Given the description of an element on the screen output the (x, y) to click on. 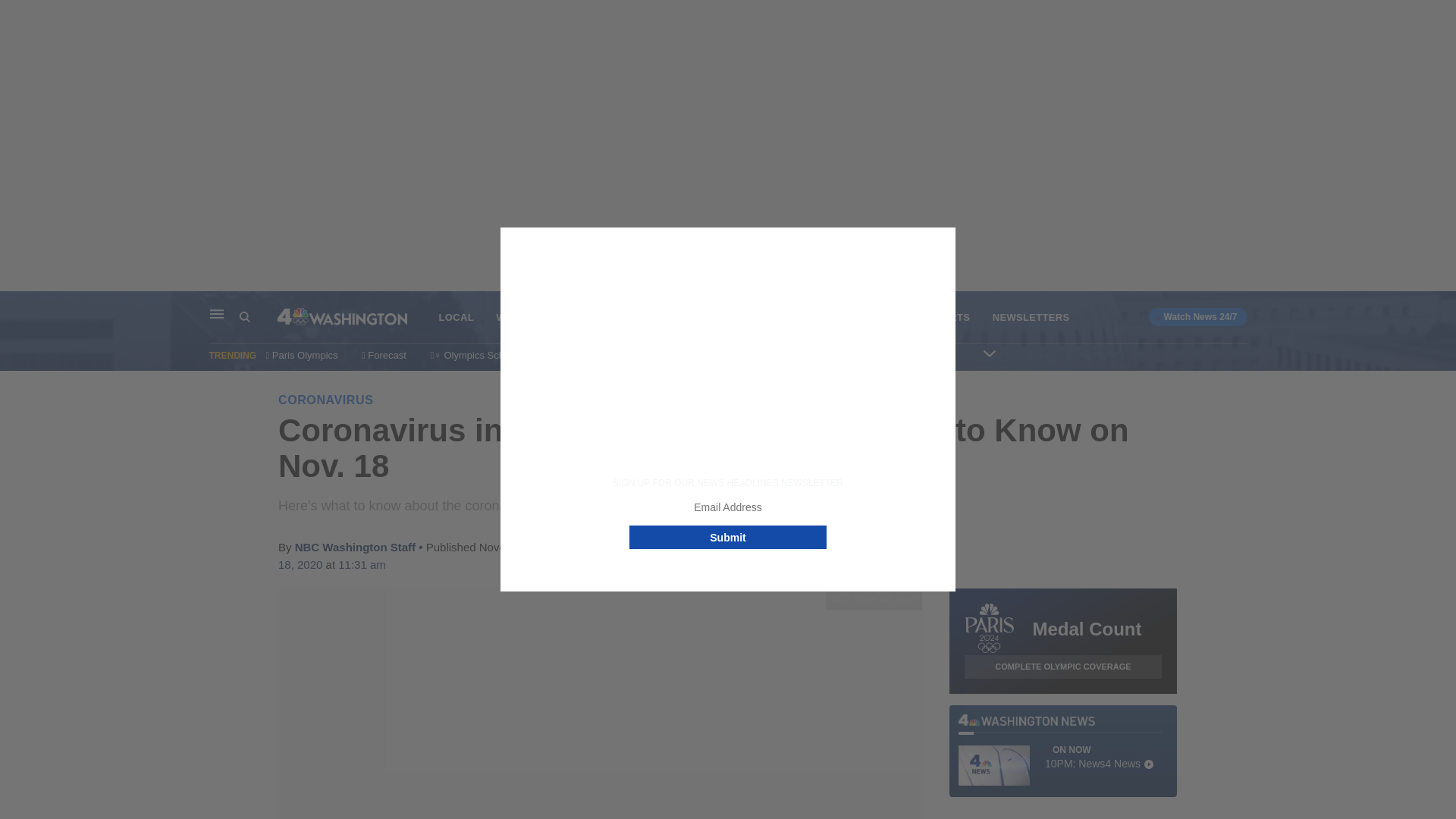
SPORTS (948, 317)
Main Navigation (216, 313)
INVESTIGATIONS (862, 317)
OLYMPICS (595, 317)
CORONAVIRUS (325, 399)
NEWSLETTERS (1031, 317)
Expand (989, 353)
LOCAL (455, 317)
Search (244, 316)
Skip to content (16, 306)
THE SCENE (767, 317)
Search (257, 316)
WEATHER (521, 317)
NBC Washington Staff (354, 546)
Our news standards (903, 355)
